Given the description of an element on the screen output the (x, y) to click on. 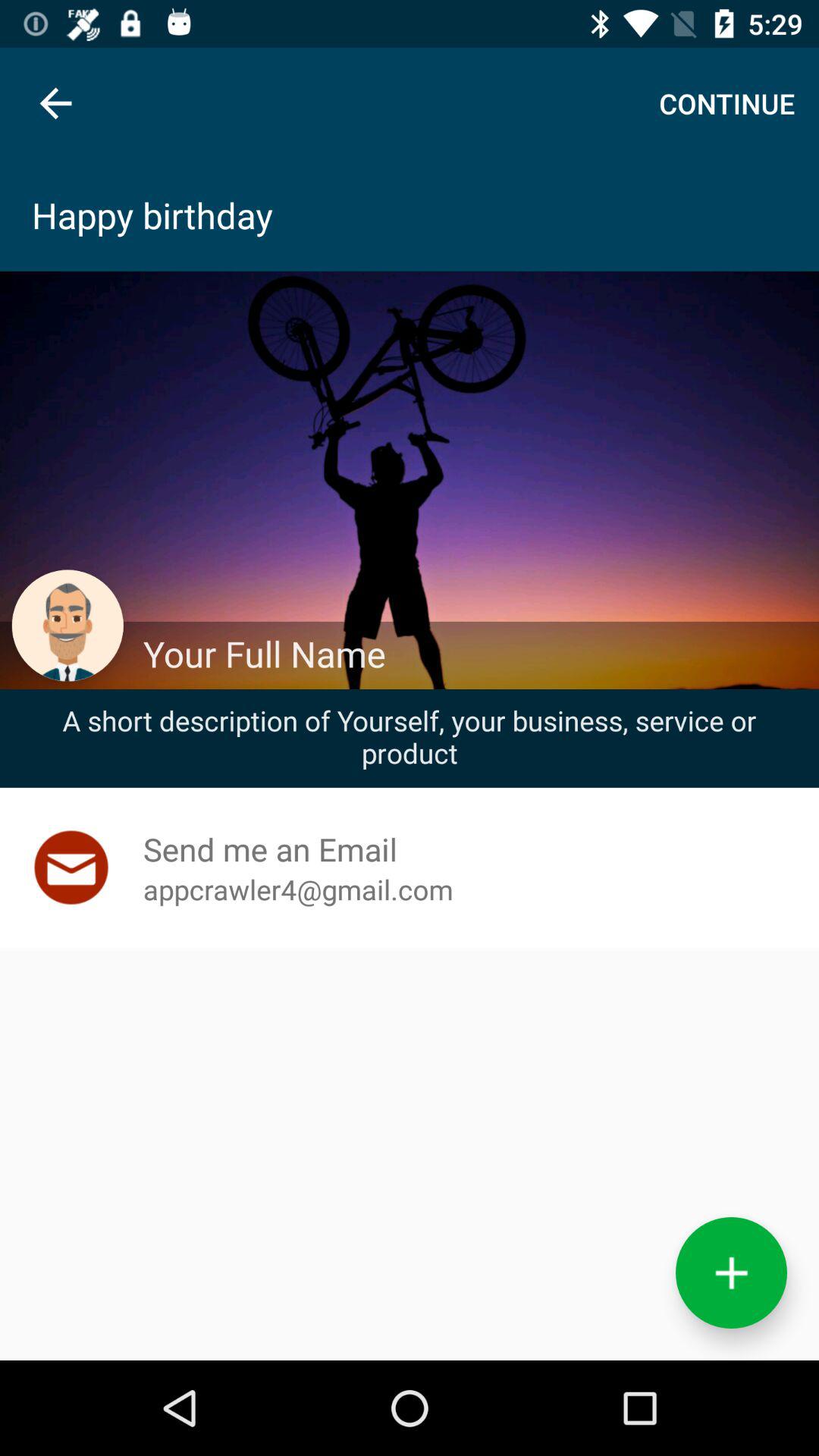
turn on item at the top left corner (55, 103)
